Given the description of an element on the screen output the (x, y) to click on. 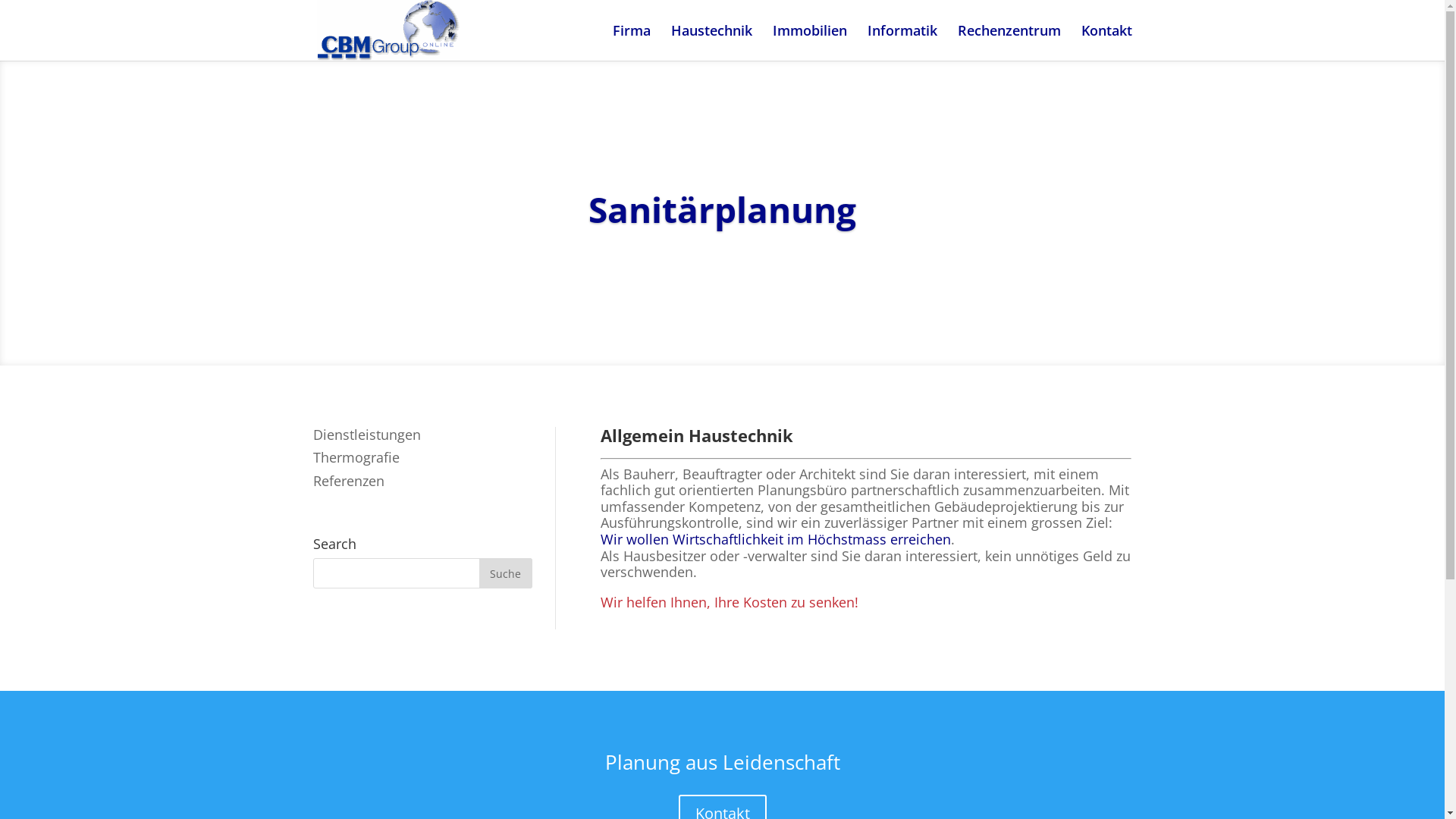
Kontakt Element type: text (1106, 42)
Firma Element type: text (631, 42)
Referenzen Element type: text (347, 480)
Suche Element type: text (505, 573)
Immobilien Element type: text (808, 42)
Informatik Element type: text (902, 42)
Haustechnik Element type: text (710, 42)
Dienstleistungen Element type: text (366, 434)
Thermografie Element type: text (355, 457)
Rechenzentrum Element type: text (1008, 42)
